Given the description of an element on the screen output the (x, y) to click on. 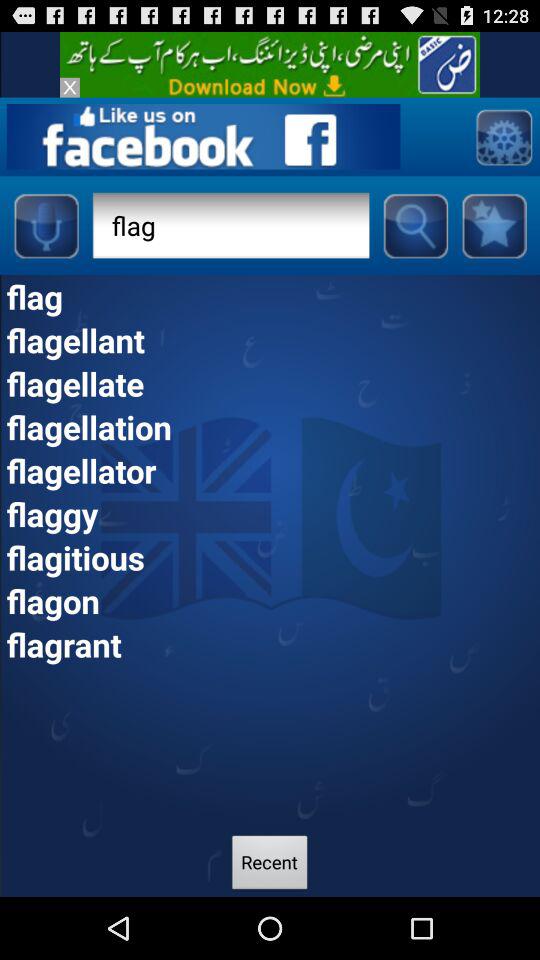
close (69, 87)
